Given the description of an element on the screen output the (x, y) to click on. 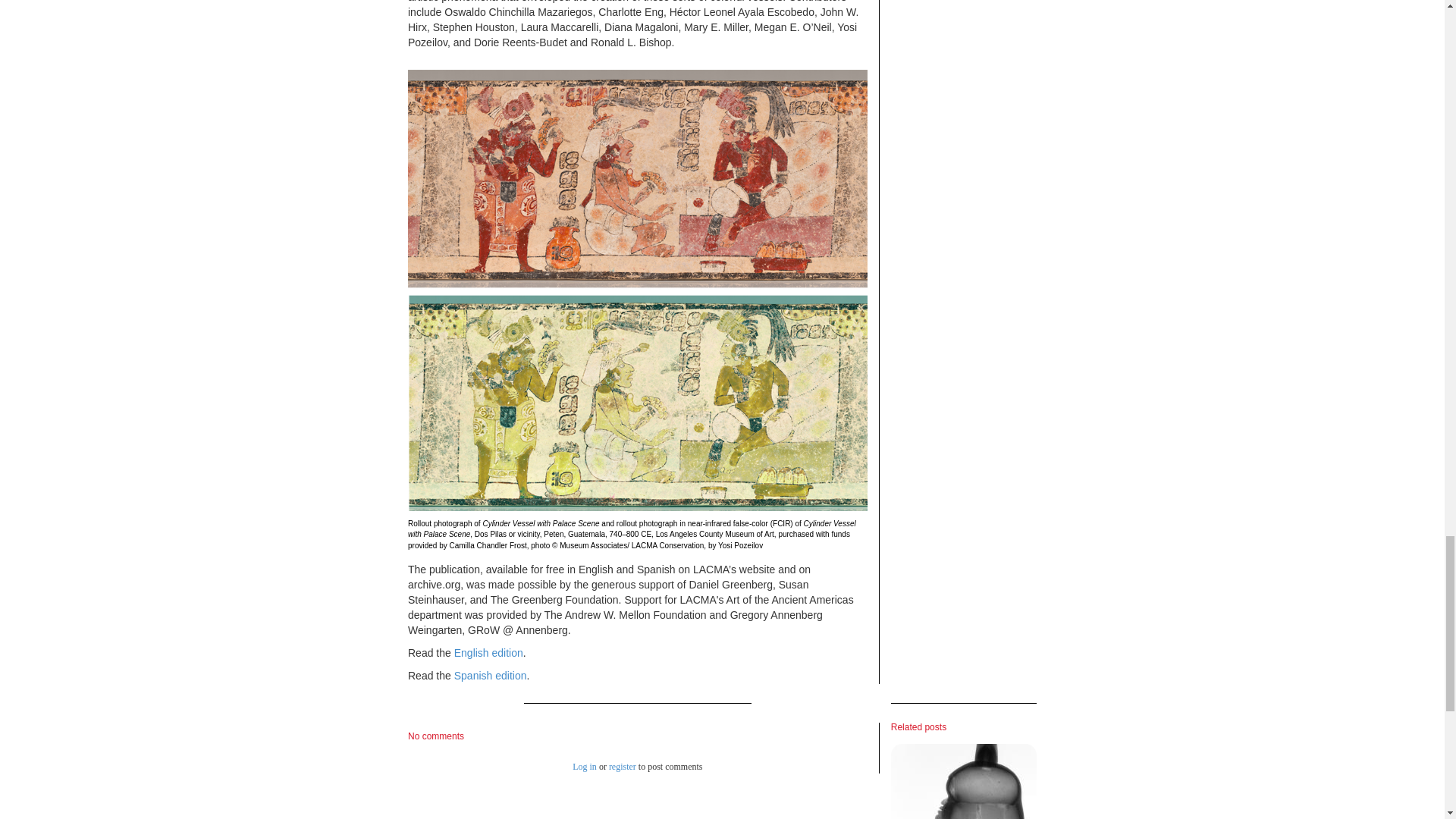
register (622, 766)
Evaluating the Authenticity of Ancient Artworks (963, 781)
English edition (488, 653)
Log in (584, 766)
Spanish edition (490, 675)
